Given the description of an element on the screen output the (x, y) to click on. 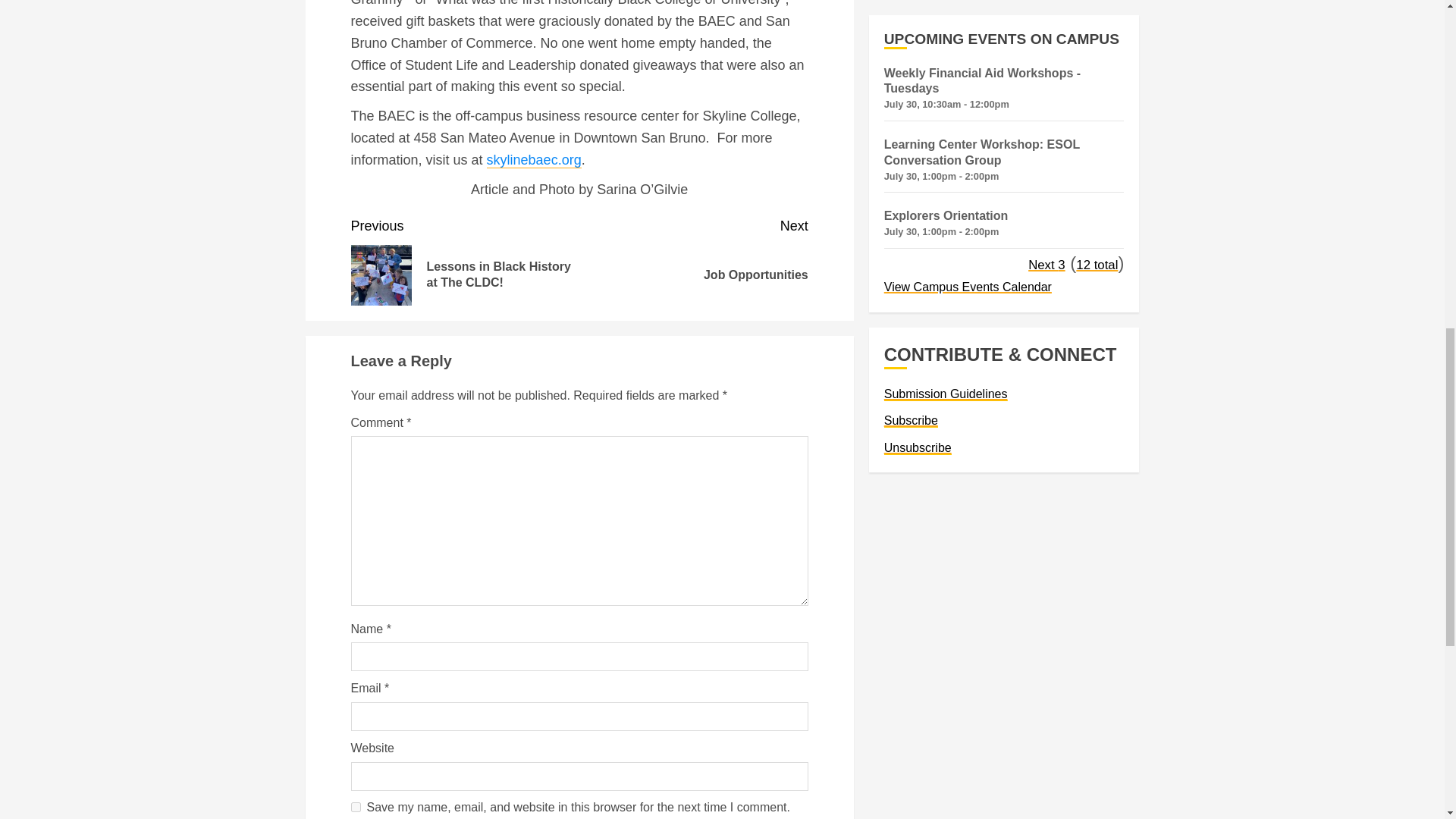
yes (693, 260)
skylinebaec.org (354, 807)
